Given the description of an element on the screen output the (x, y) to click on. 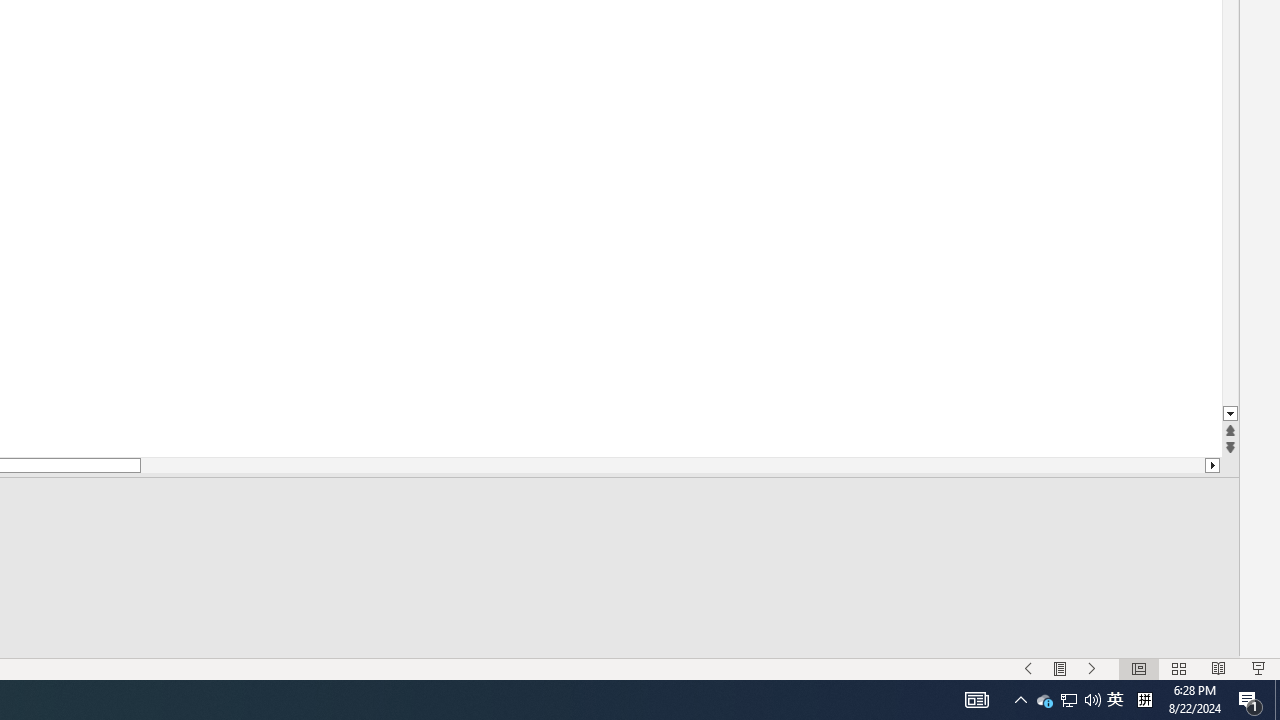
Menu On (1044, 699)
Slide Show Next On (1060, 668)
Action Center, 1 new notification (1092, 668)
